Given the description of an element on the screen output the (x, y) to click on. 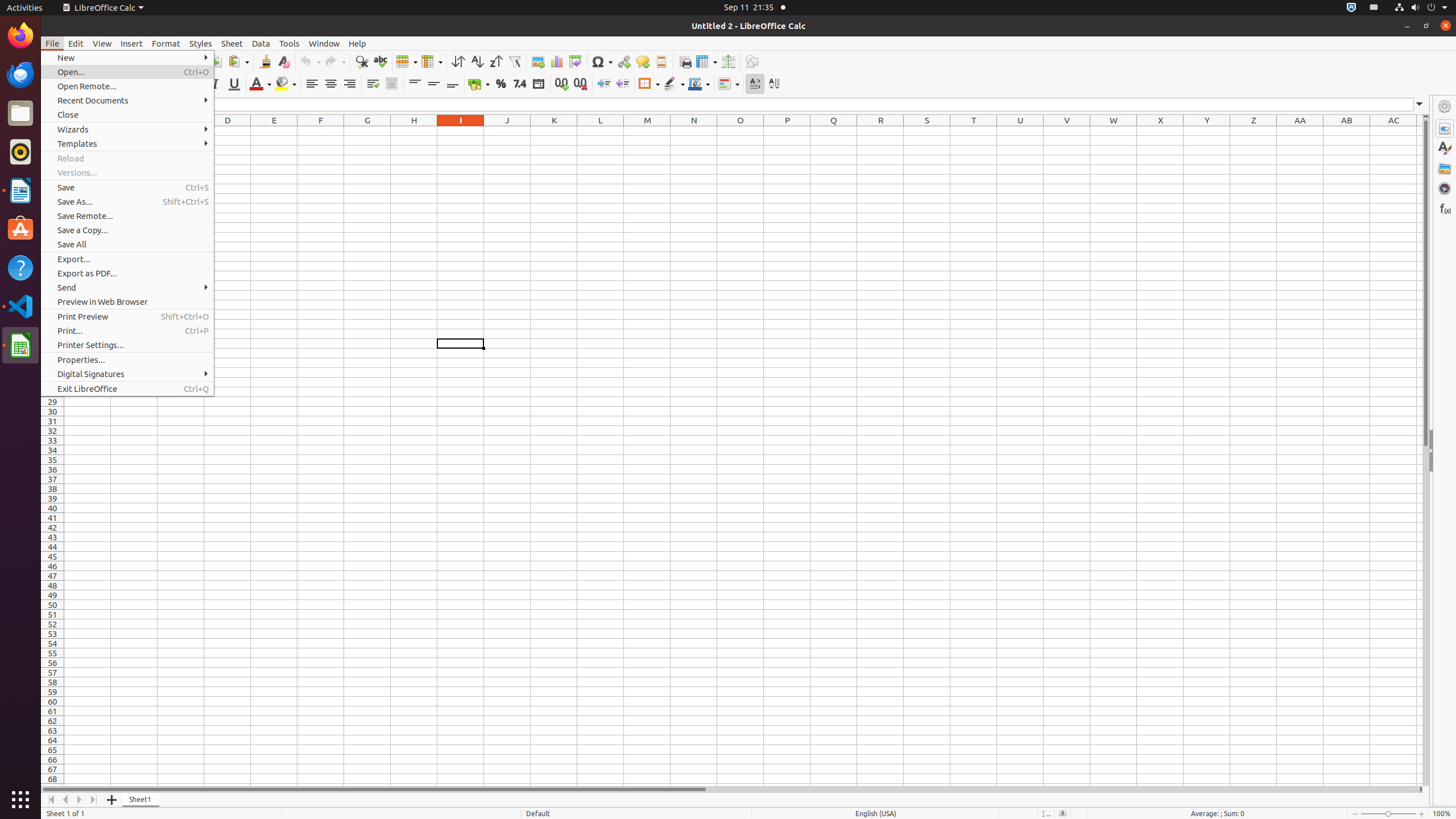
S1 Element type: table-cell (926, 130)
Align Left Element type: push-button (311, 83)
Image Element type: push-button (537, 61)
Open Remote... Element type: menu-item (126, 86)
Add Decimal Place Element type: push-button (561, 83)
